Given the description of an element on the screen output the (x, y) to click on. 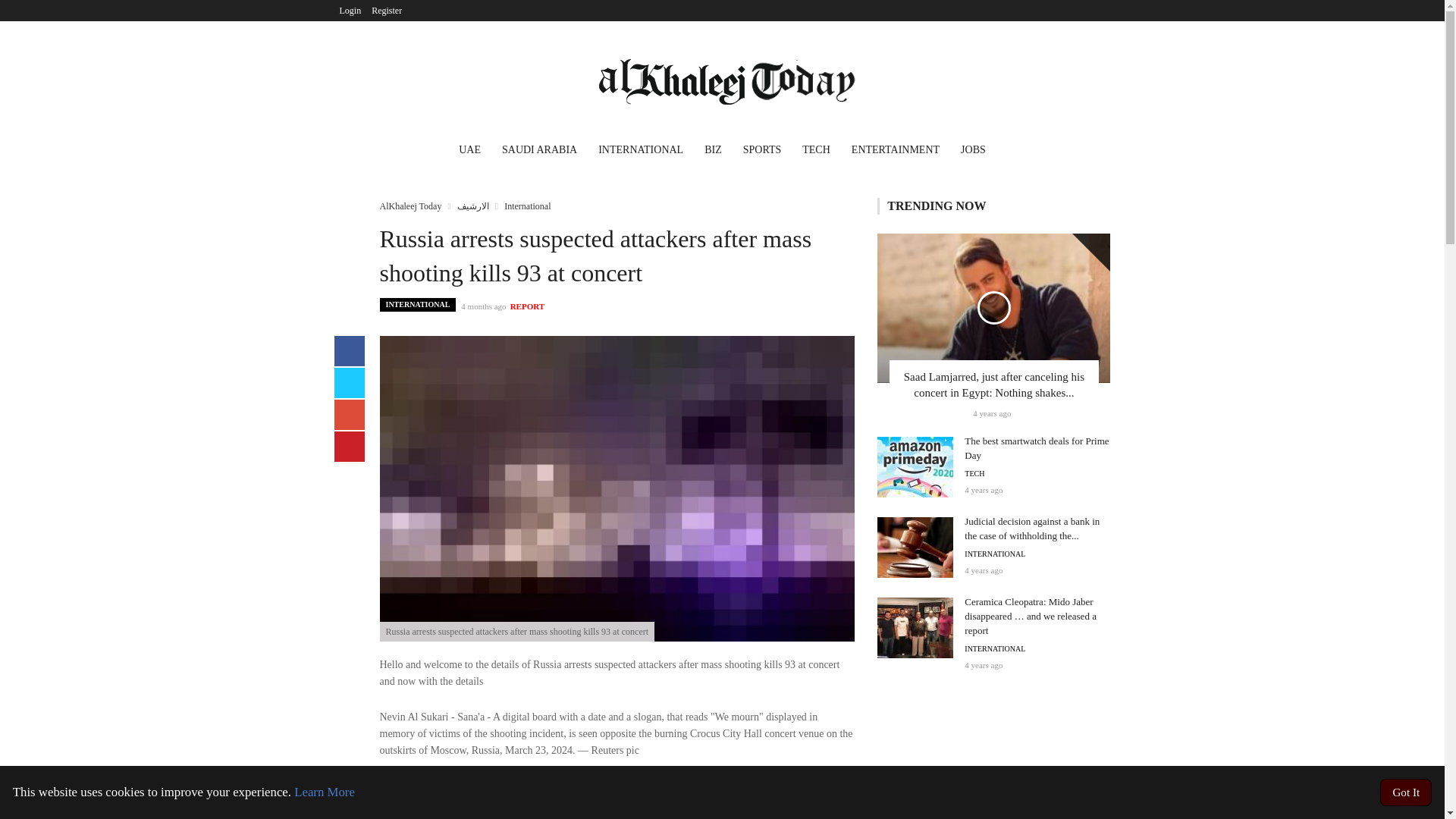
Learn More (324, 791)
UAE (470, 151)
INTERNATIONAL (641, 151)
Got It (1405, 791)
Login (349, 10)
International (526, 205)
JOBS (972, 151)
BIZ (713, 151)
REPORT (527, 306)
Thursday 26th November 2020 03:54 AM (983, 664)
Wednesday 14th October 2020 01:41 AM (983, 489)
Saturday 23rd March 2024 01:03 PM (483, 306)
Learn More (324, 791)
TECH (816, 151)
